Given the description of an element on the screen output the (x, y) to click on. 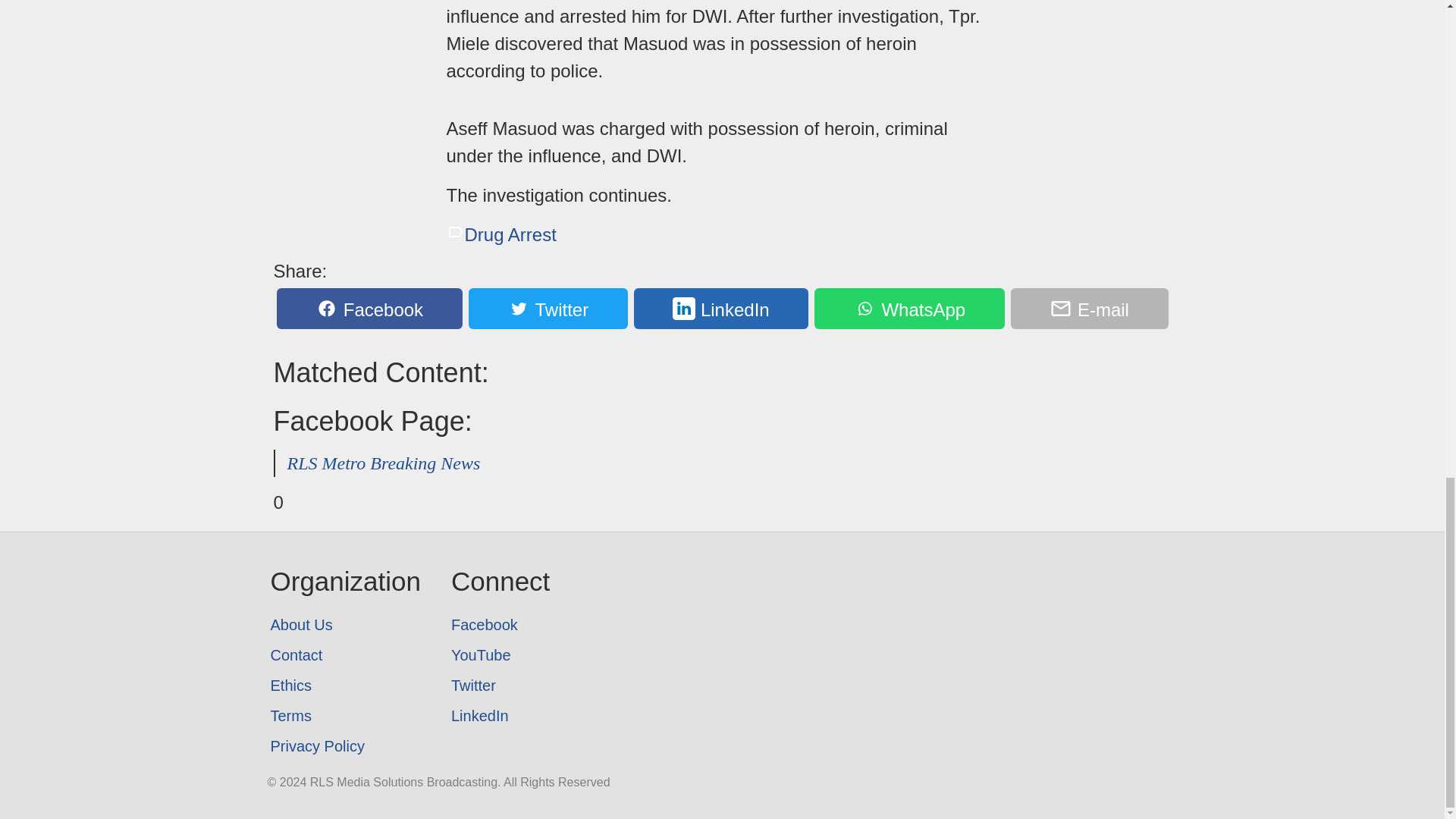
LinkedIn (500, 716)
Twitter (547, 308)
YouTube (500, 654)
Facebook (500, 624)
Drug Arrest (500, 234)
Contact Us (344, 654)
WhatsApp (908, 308)
LinkedIn Business Page (500, 716)
Facebook Page (500, 624)
Privacy Policy (344, 746)
